Given the description of an element on the screen output the (x, y) to click on. 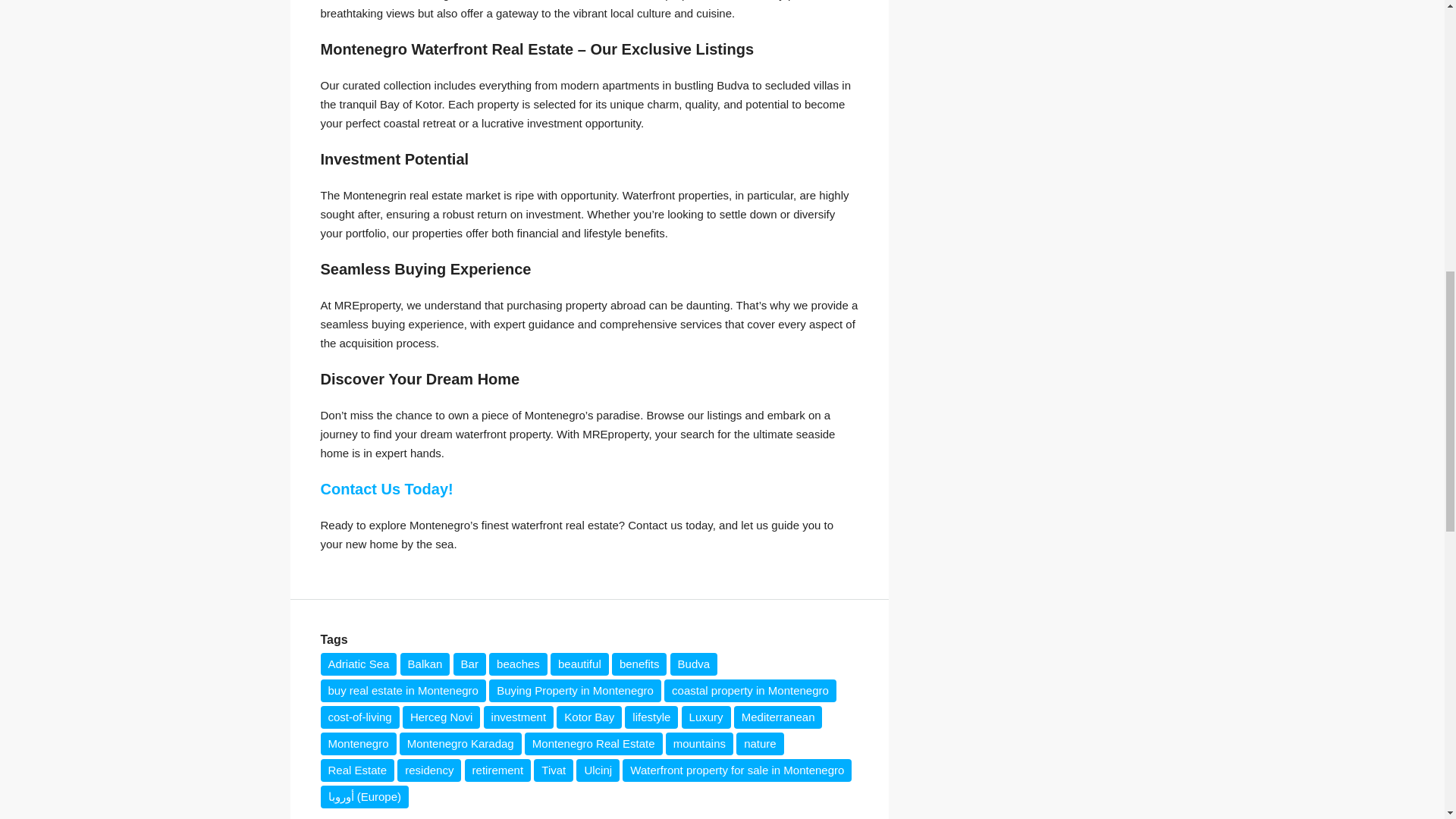
Buying Property in Montenegro (575, 690)
buy real estate in Montenegro (402, 690)
cost-of-living (359, 716)
benefits (638, 663)
beaches (518, 663)
Balkan (424, 663)
coastal property in Montenegro (749, 690)
Budva (693, 663)
Contact Us Today! (386, 488)
Bar (469, 663)
